Given the description of an element on the screen output the (x, y) to click on. 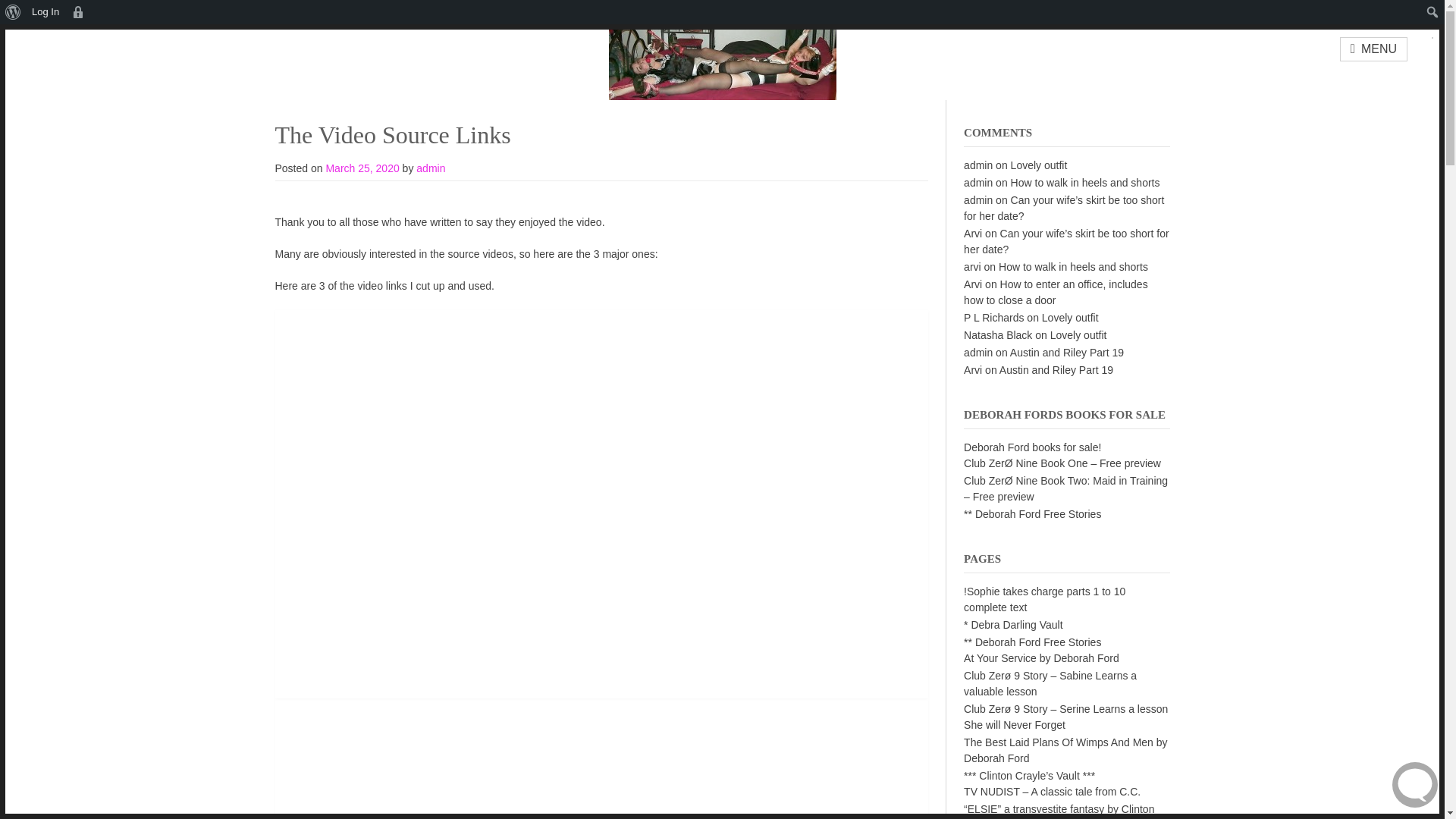
Lovely outfit (1070, 317)
March 25, 2020 (361, 168)
How to walk in heels and shorts (1085, 182)
How to enter an office, includes how to close a door (1055, 292)
Austin and Riley Part 19 (1067, 352)
Lovely outfit (1077, 335)
Lovely outfit (1038, 164)
At Your Service by Deborah Ford (1041, 657)
The Best Laid Plans Of Wimps And Men by Deborah Ford (1065, 750)
Austin and Riley Part 19 (1055, 369)
Deborah Ford books for sale! (1031, 447)
!Sophie takes charge parts 1 to 10 complete text (1044, 599)
admin (430, 168)
How to walk in heels and shorts (1073, 266)
The Hotel Transform Stories (721, 61)
